Given the description of an element on the screen output the (x, y) to click on. 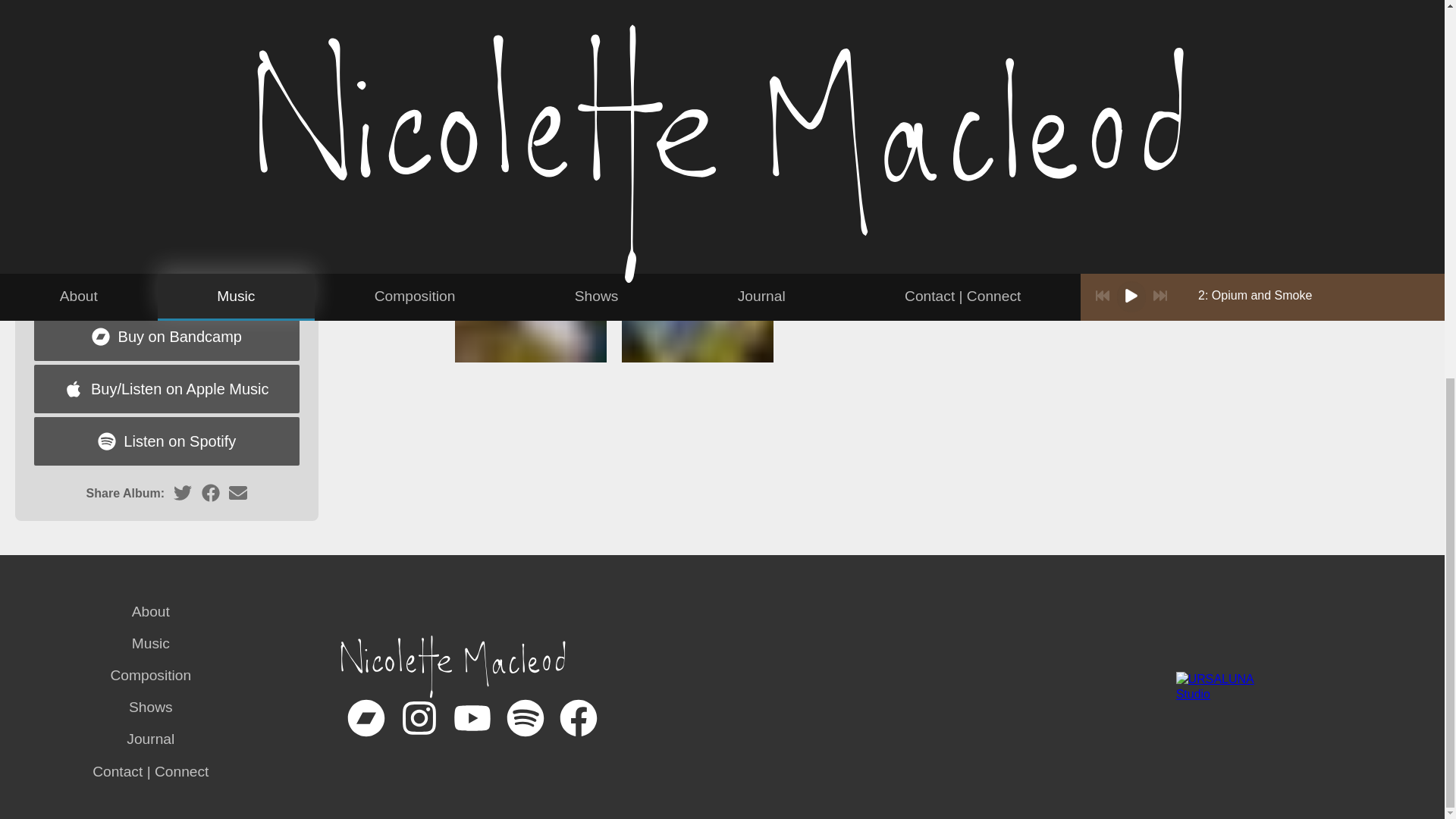
Play Opium and Smoke (41, 24)
I post photos and litle videos on Instagram (419, 732)
Play Swallow (41, 150)
Buy my album on Bandcamp (366, 732)
Play Mechanical Animal (41, 276)
Play Down by the Salley Gardens (41, 245)
Play The Moorland Witch (41, 87)
Play She Moved Through the Fair (41, 118)
Buy on Bandcamp (166, 336)
Play Father Father (41, 2)
